Given the description of an element on the screen output the (x, y) to click on. 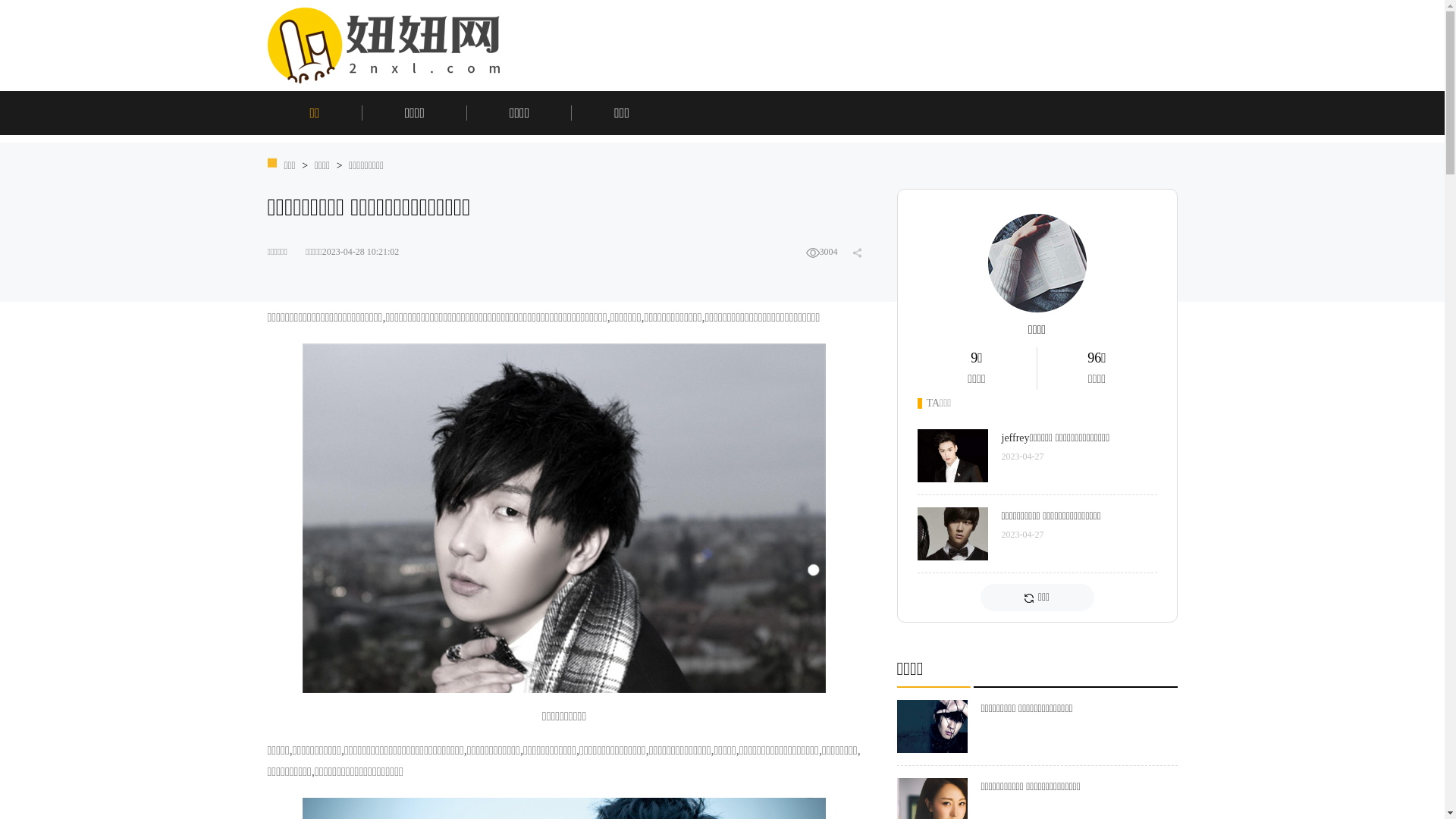
3004 Element type: text (821, 251)
